Given the description of an element on the screen output the (x, y) to click on. 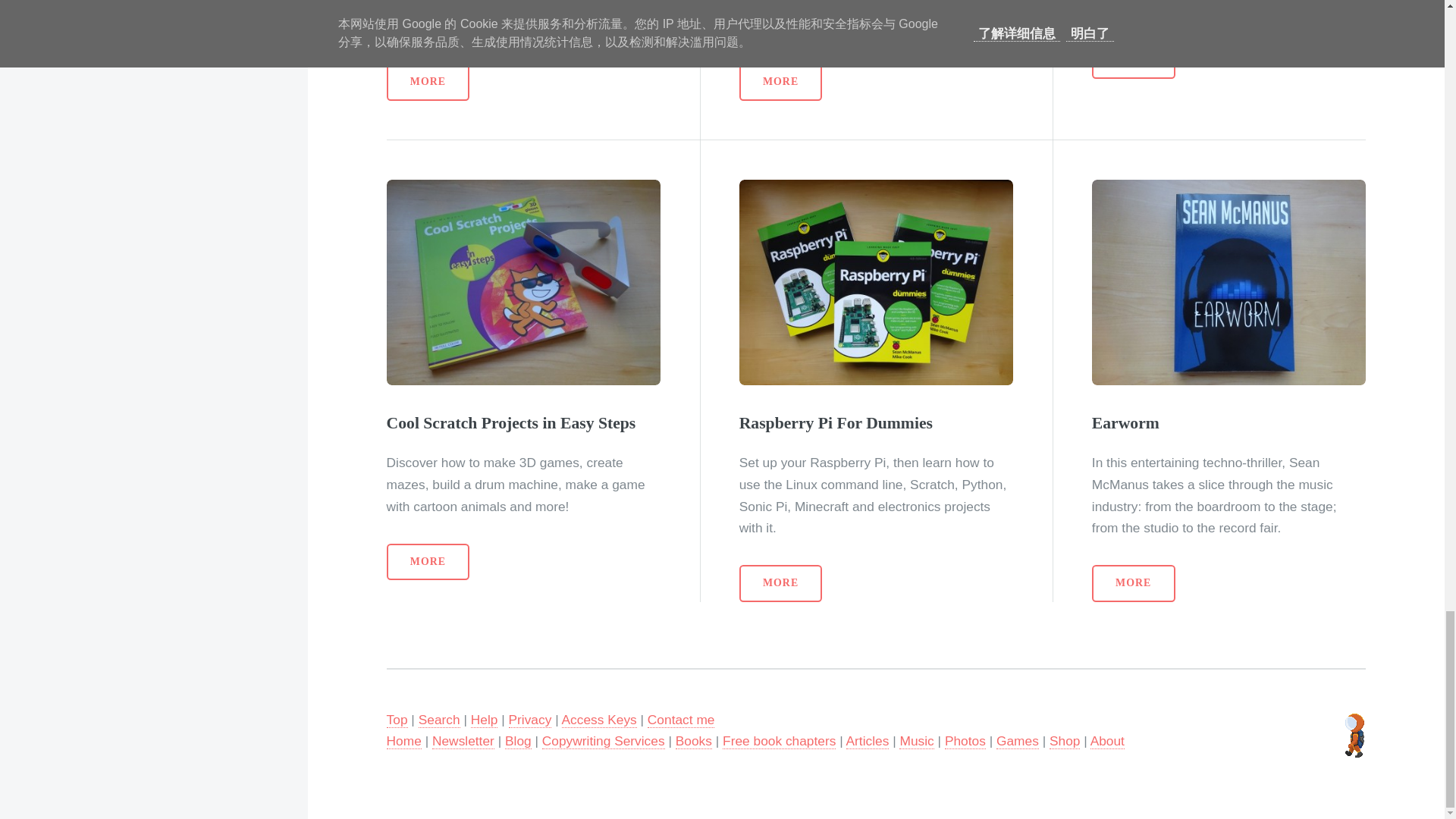
More about Earworm (1228, 281)
More about Earworm (1133, 583)
More about Mission Python (1133, 60)
More about Scratch Programming in Easy Steps (780, 81)
More about Raspberry Pi For Dummies (780, 583)
More about 100 Top Tips: Microsoft Excel (428, 81)
More about Cool Scratch Projects in Easy Steps (428, 561)
